Given the description of an element on the screen output the (x, y) to click on. 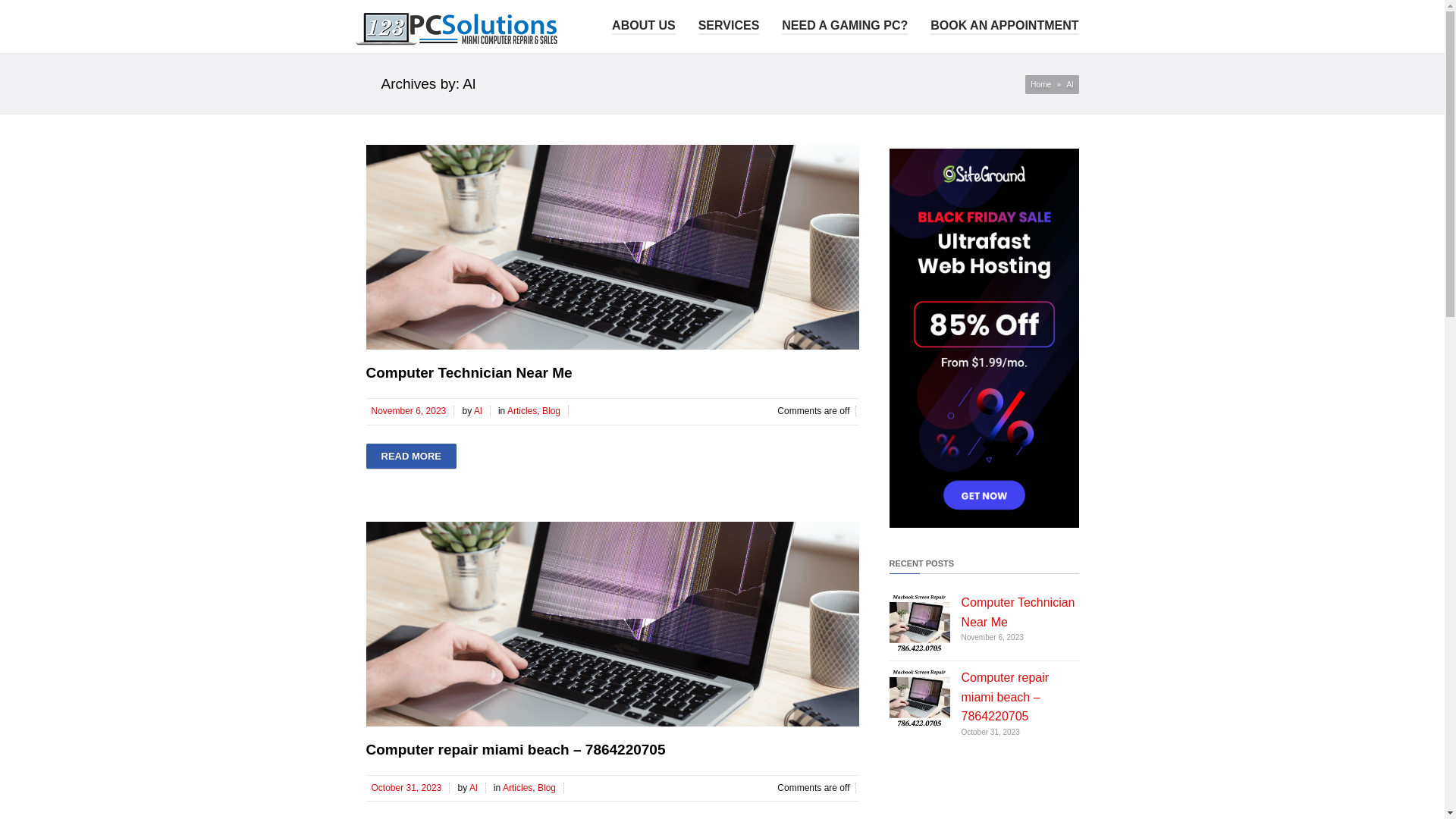
READ MORE Element type: text (410, 455)
Computer Technician Near Me Element type: text (468, 372)
Al Element type: text (478, 410)
November 6, 2023 Element type: text (409, 410)
Al Element type: text (474, 787)
October 31, 2023 Element type: text (407, 787)
Articles Element type: text (521, 410)
NEED A GAMING PC? Element type: text (844, 23)
BOOK AN APPOINTMENT Element type: text (1004, 23)
Articles Element type: text (517, 787)
Blog Element type: text (547, 787)
ABOUT US Element type: text (643, 23)
Home Element type: text (1040, 84)
Computer Technician Near Me Element type: text (1018, 612)
Blog Element type: text (552, 410)
SERVICES Element type: text (728, 23)
